Given the description of an element on the screen output the (x, y) to click on. 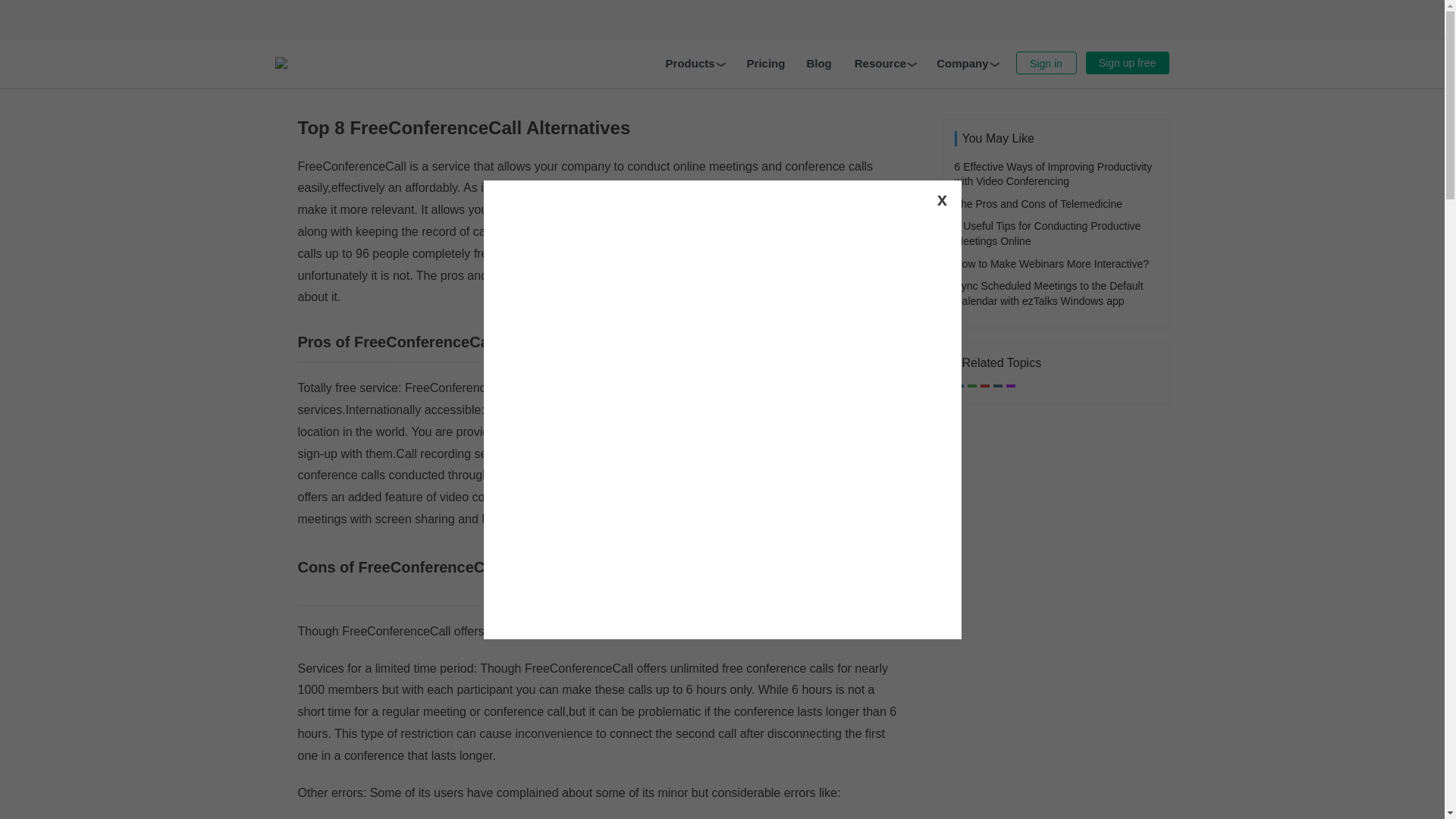
Company (966, 63)
Sign up free (1127, 62)
7 Useful Tips for Conducting Productive Meetings Online (1046, 233)
Sign in (1046, 62)
The Pros and Cons of Telemedicine (1037, 203)
Resource (885, 63)
The Pros and Cons of Telemedicine (1037, 203)
Products (694, 63)
